Given the description of an element on the screen output the (x, y) to click on. 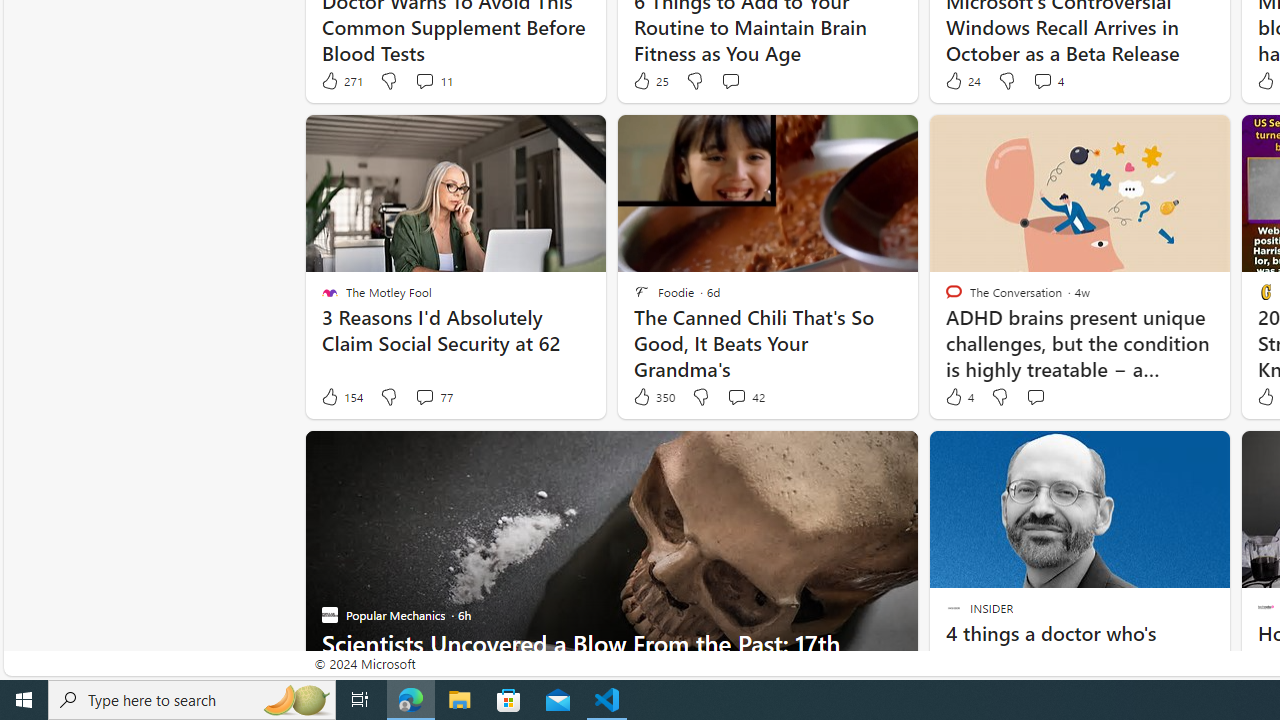
View comments 11 Comment (424, 80)
4 Like (957, 397)
View comments 42 Comment (736, 396)
